Given the description of an element on the screen output the (x, y) to click on. 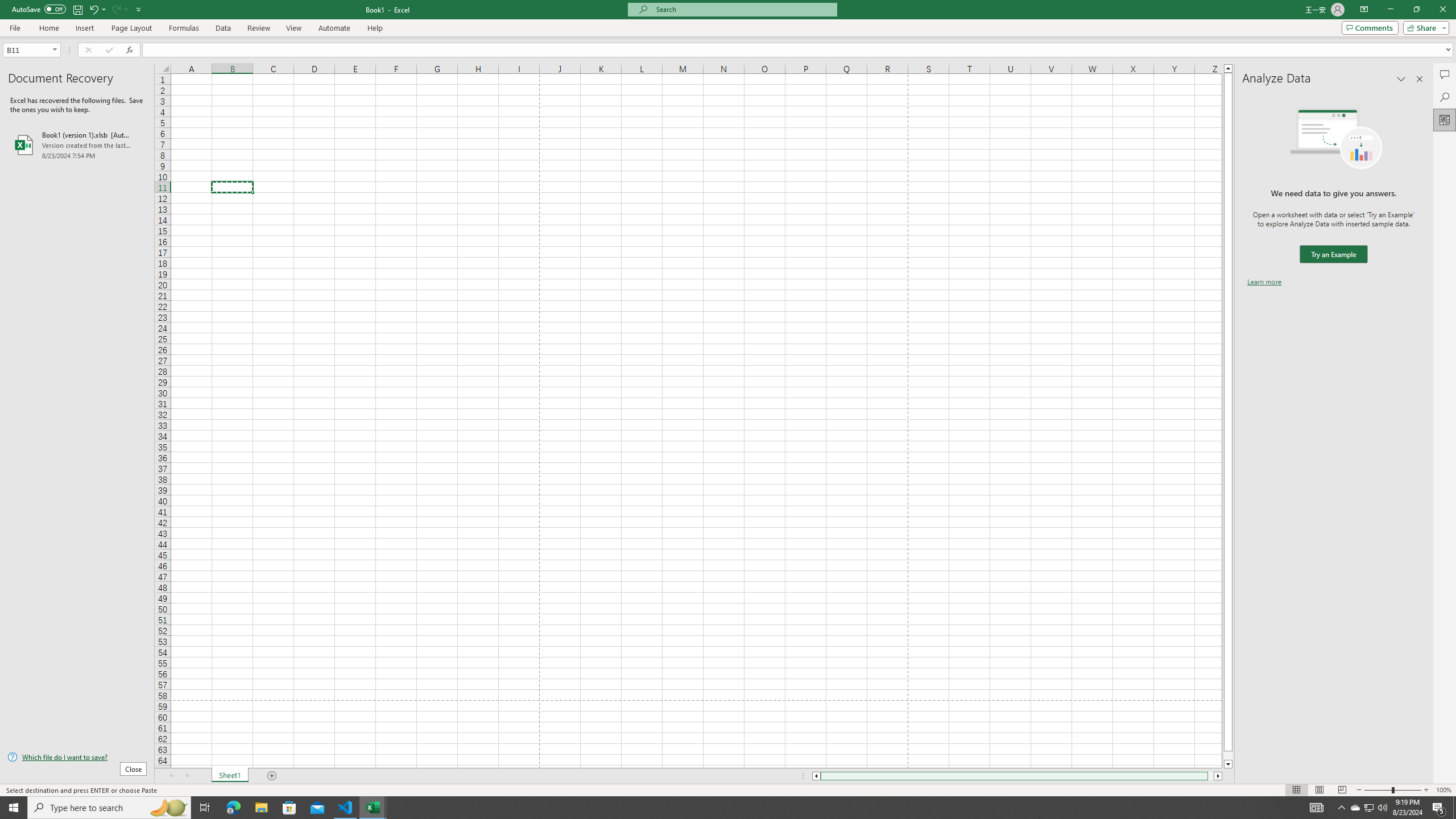
Which file do I want to save? (77, 757)
Close pane (1419, 78)
Book1 (version 1).xlsb  [AutoRecovered] (77, 144)
Microsoft search (742, 9)
Page right (1211, 775)
